Given the description of an element on the screen output the (x, y) to click on. 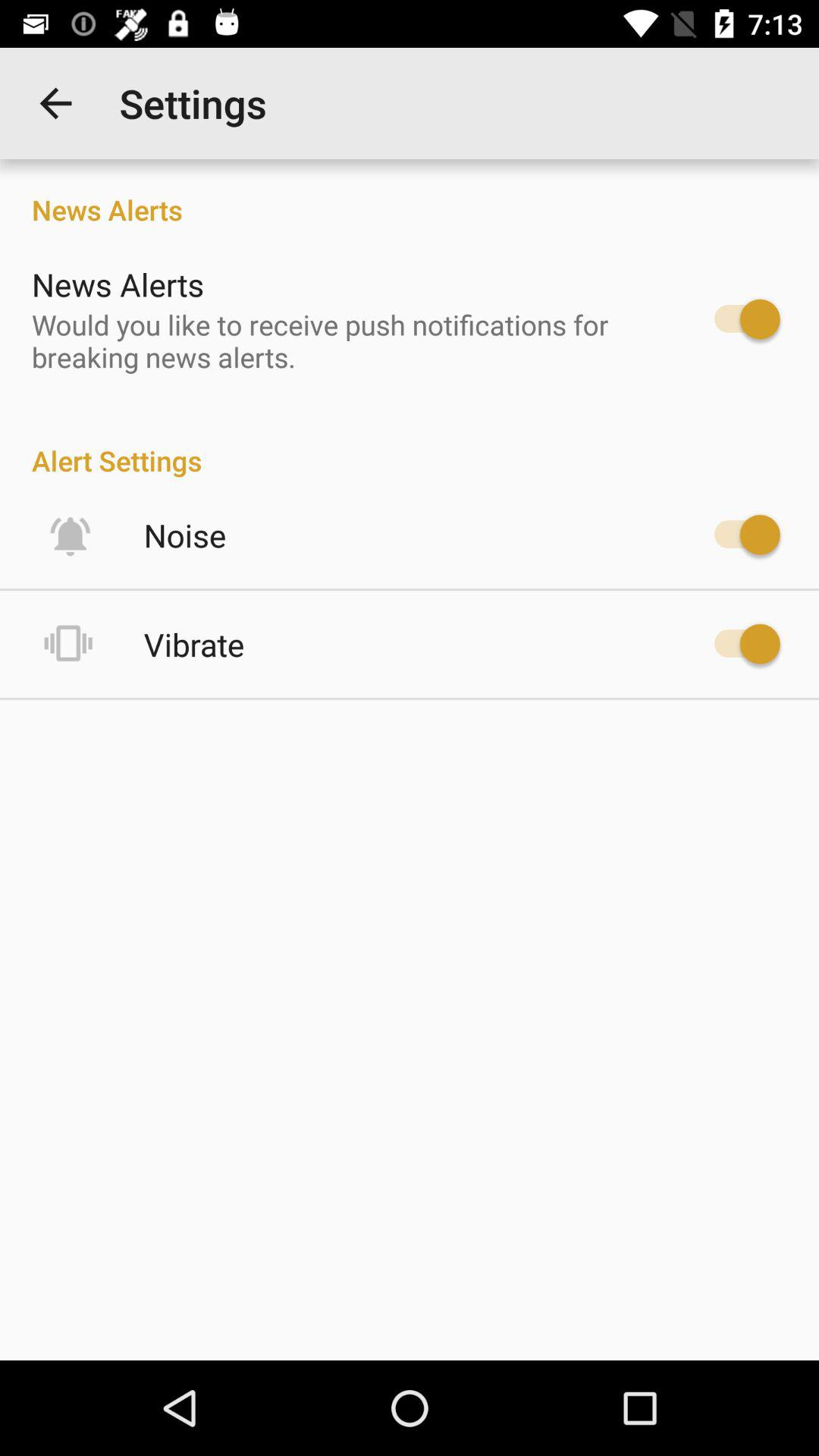
click the would you like item (345, 340)
